Given the description of an element on the screen output the (x, y) to click on. 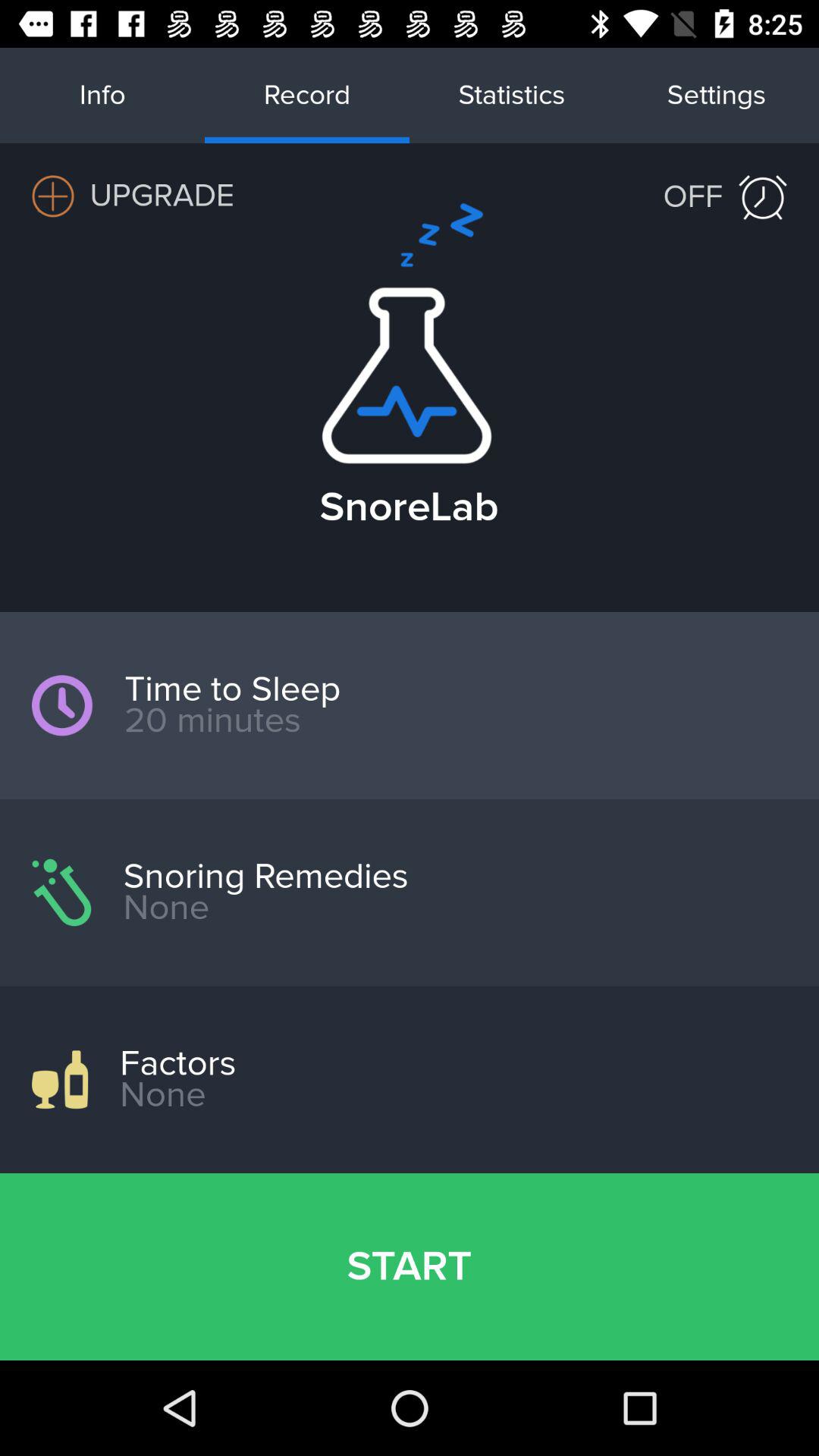
swipe to start icon (409, 1266)
